Given the description of an element on the screen output the (x, y) to click on. 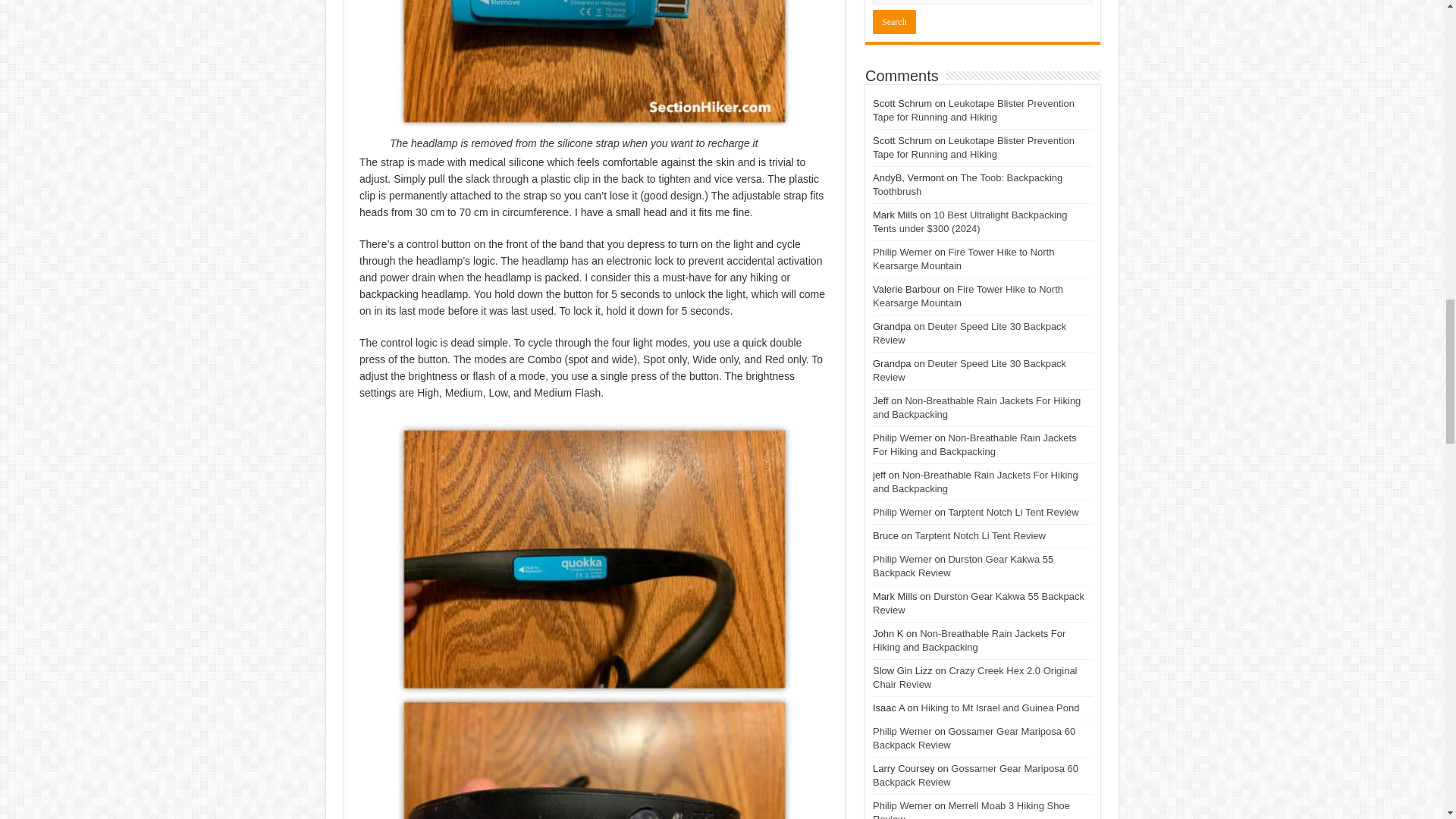
Search (893, 21)
Search (893, 21)
